Given the description of an element on the screen output the (x, y) to click on. 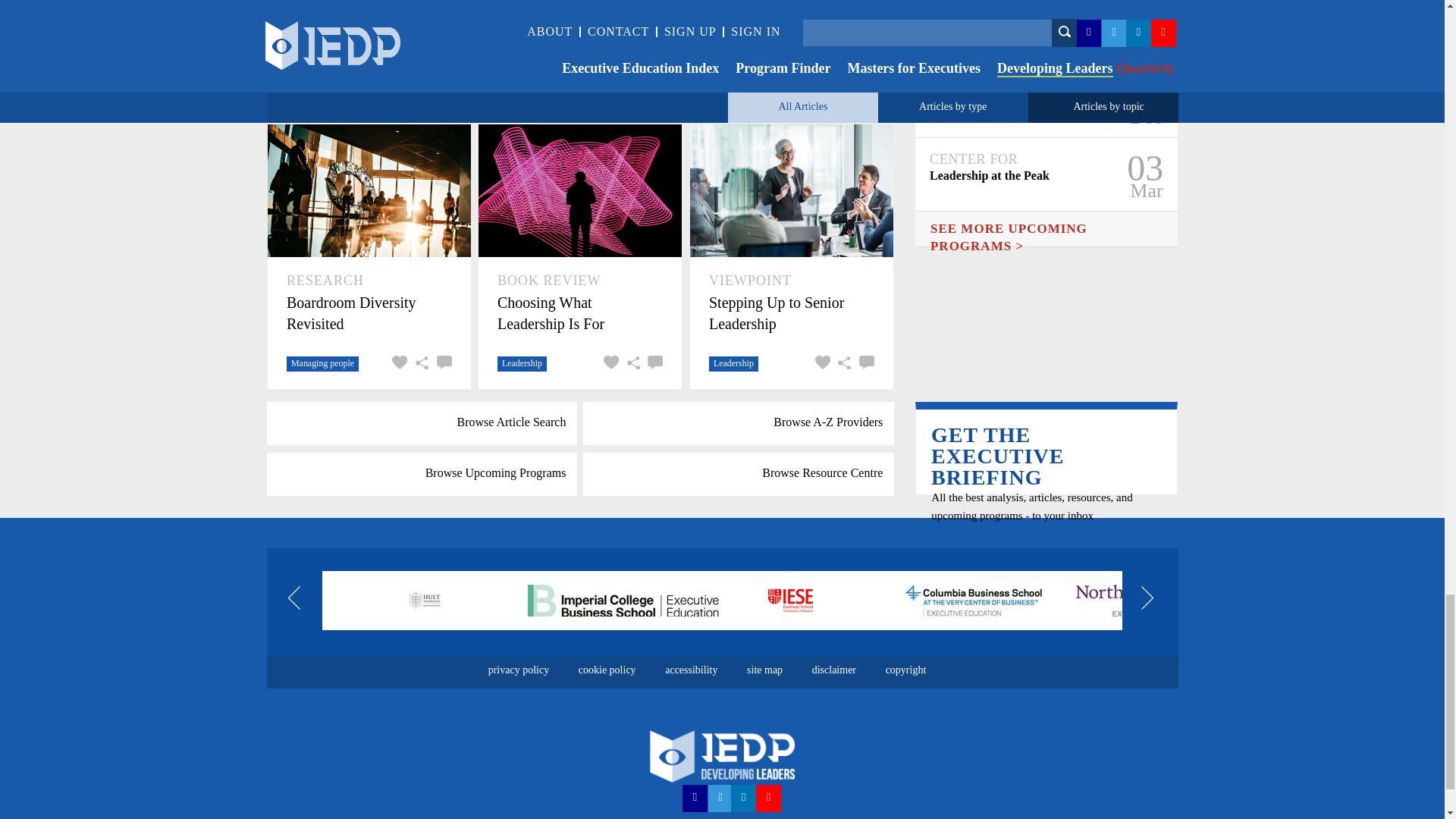
Choosing What Leadership Is For (579, 312)
Boardroom Diversity Revisited (368, 312)
Stepping Up to Senior Leadership  (792, 312)
Elevate Your Leadership Signature (368, 39)
